Given the description of an element on the screen output the (x, y) to click on. 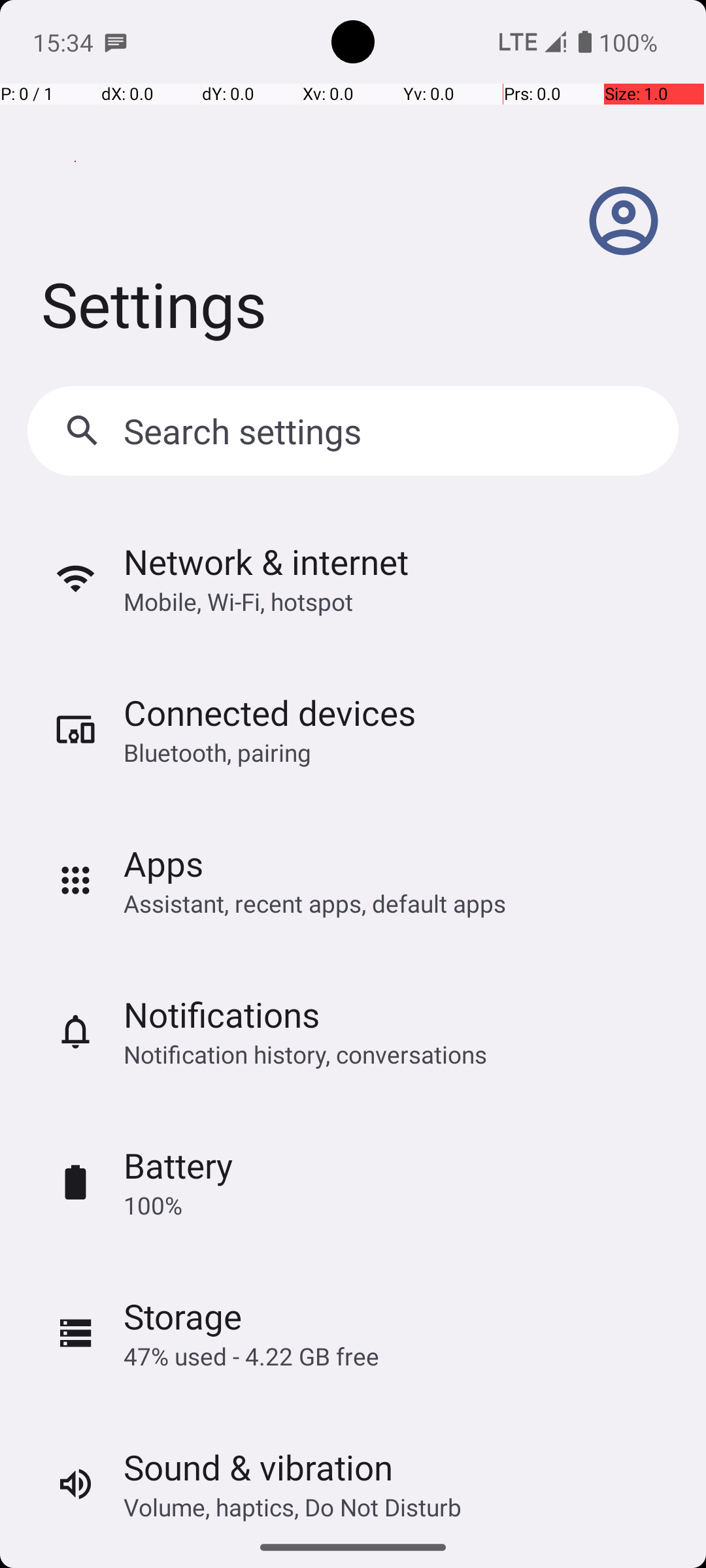
47% used - 4.22 GB free Element type: android.widget.TextView (251, 1355)
